Given the description of an element on the screen output the (x, y) to click on. 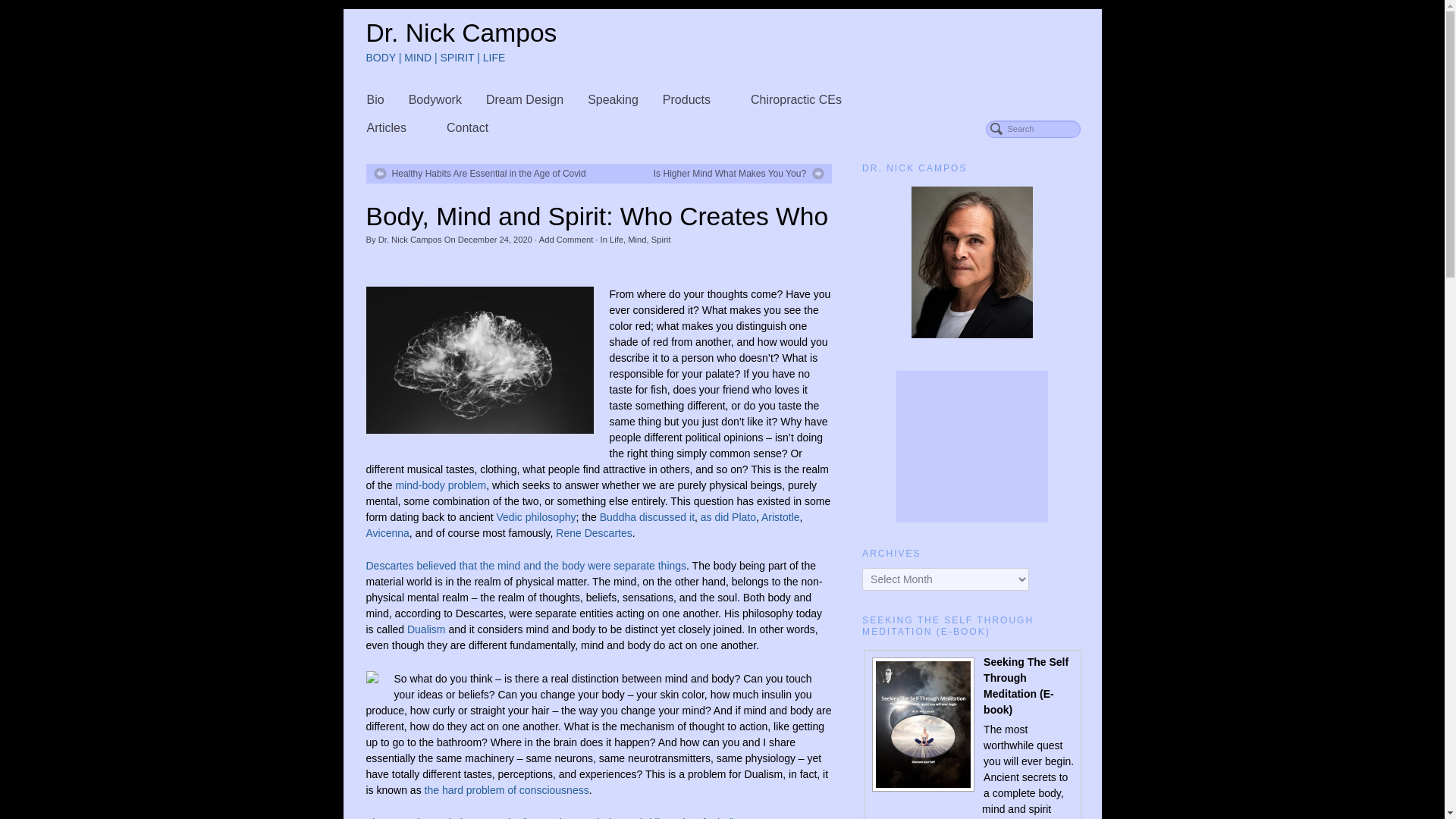
Contact (466, 127)
Vedic philosophy (535, 517)
Contact (466, 127)
Healthy Habits Are Essential in the Age of Covid (478, 173)
Bio (375, 99)
Dream Design (524, 99)
Dualism (426, 629)
Chiropractic CEs (803, 99)
Mind (636, 239)
Healthy Habits Are Essential in the Age of Covid (478, 173)
